Given the description of an element on the screen output the (x, y) to click on. 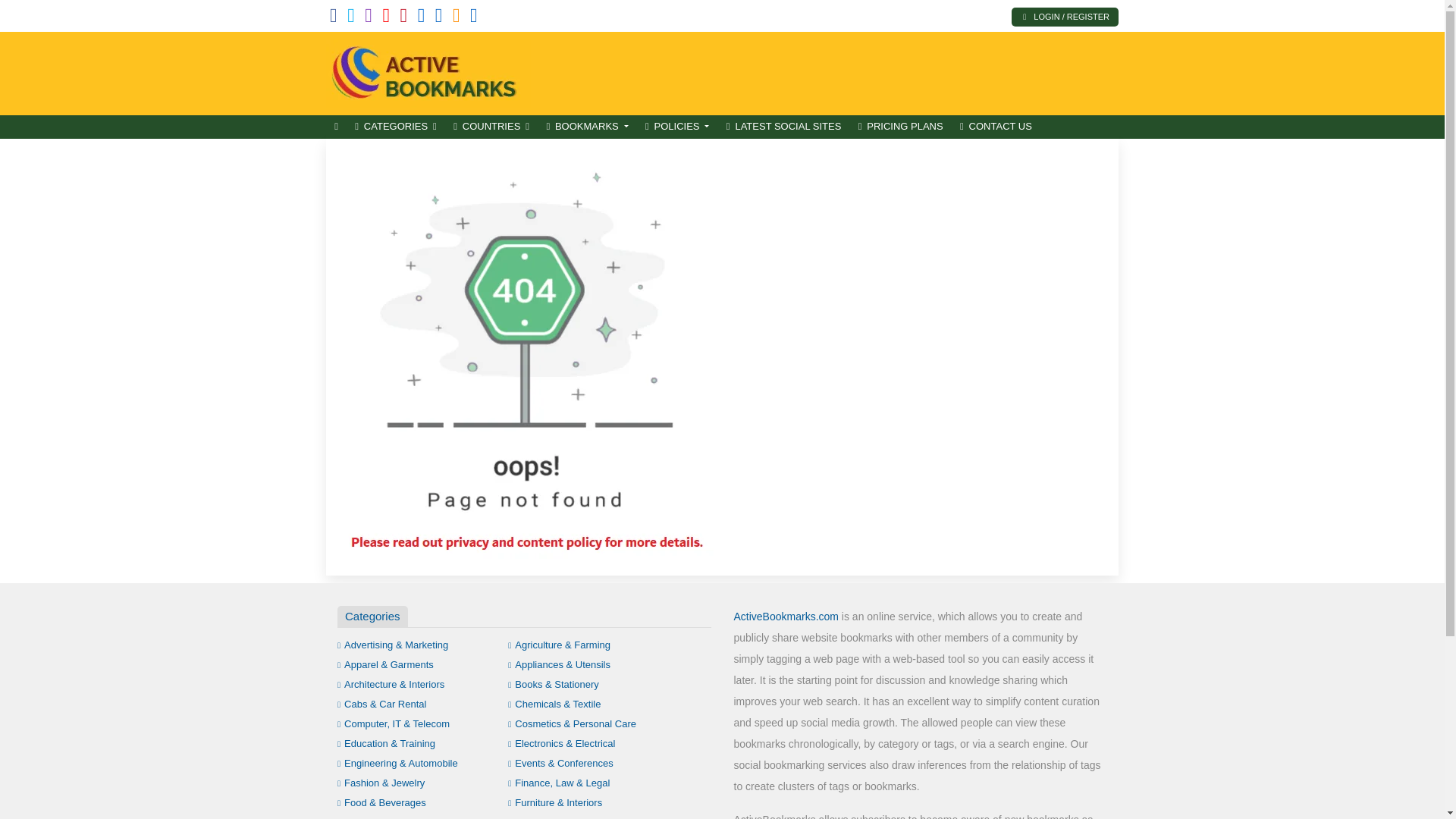
Quality Article Submitter and Social Bookmarking Service (428, 71)
CATEGORIES (395, 126)
